Given the description of an element on the screen output the (x, y) to click on. 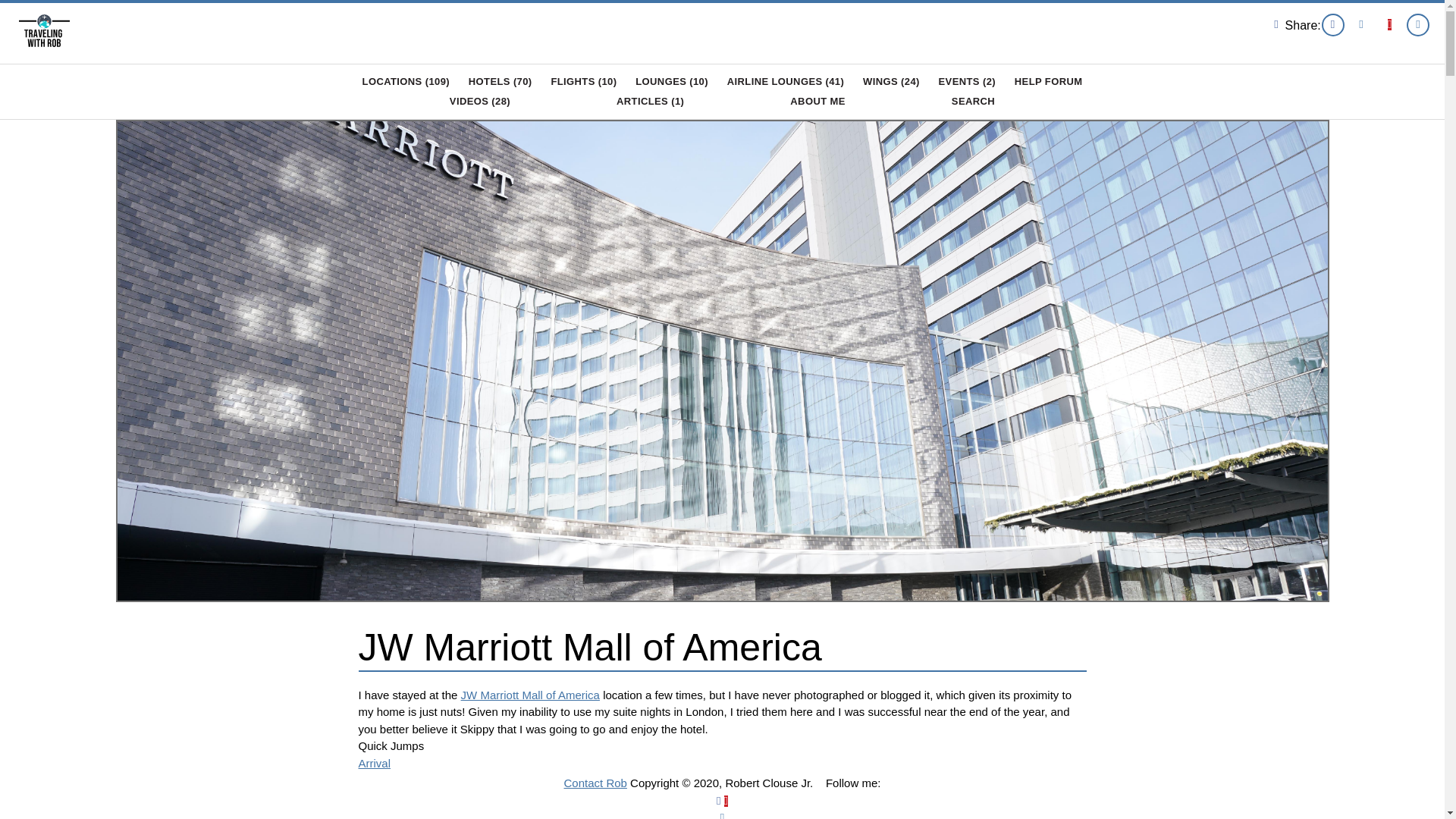
HELP FORUM (1048, 81)
ABOUT ME (817, 101)
JW Marriott Mall of America (530, 694)
Help with your travel quandries (1048, 81)
Search posts for specific content (973, 101)
Dining (374, 813)
The Room (384, 779)
My list of wings, where to get em and how I felt they fared (891, 81)
Locations I have visited, for work or for pleasure (405, 81)
Long in depth articles on travel subjects (649, 101)
Special Events and Giveaways (967, 81)
SEARCH (973, 101)
The Lounge (388, 797)
Hotels around the world I have stayed at (500, 81)
